Given the description of an element on the screen output the (x, y) to click on. 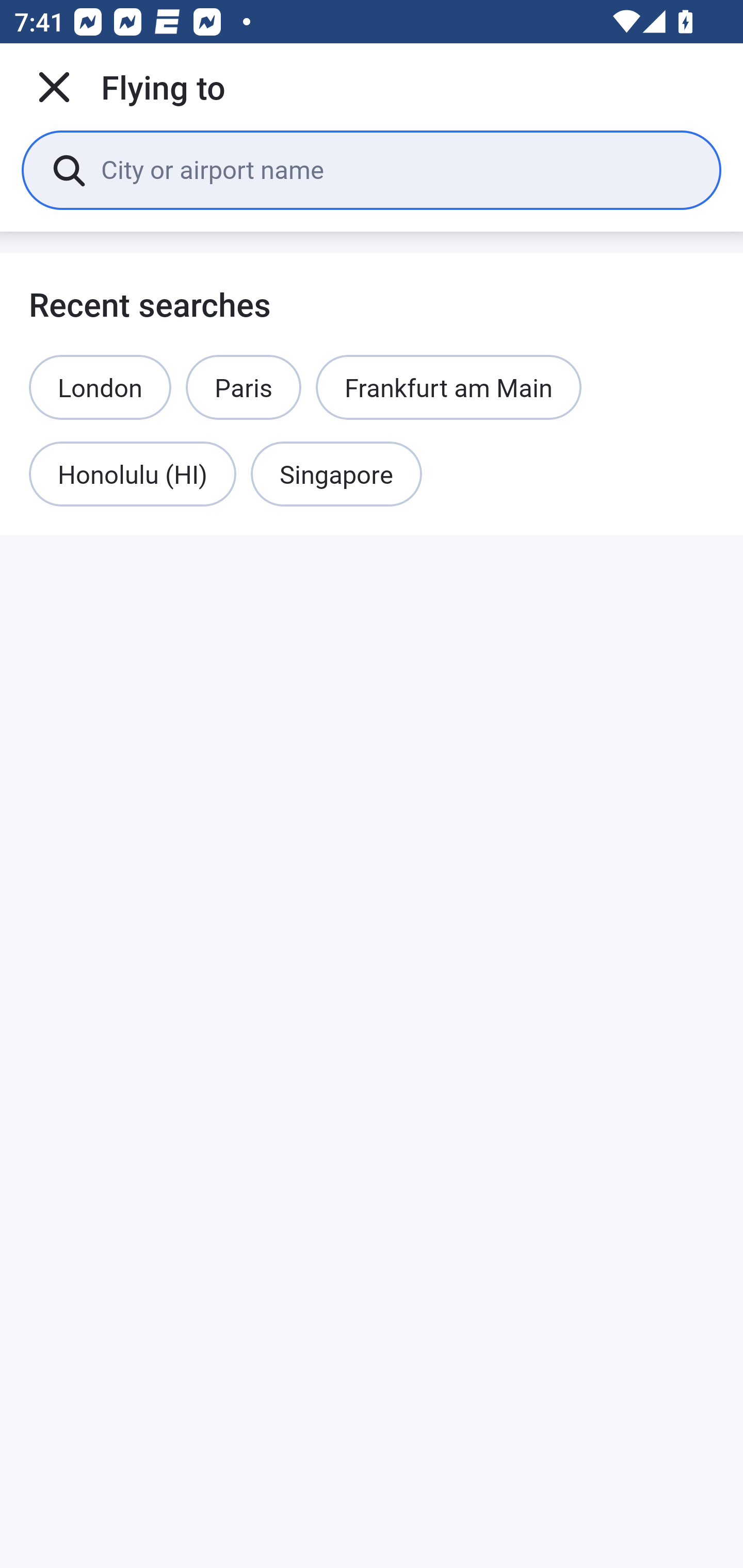
City or airport name (396, 169)
London (99, 387)
Paris (243, 387)
Frankfurt am Main (448, 387)
Honolulu (HI) (132, 474)
Singapore (336, 474)
